Given the description of an element on the screen output the (x, y) to click on. 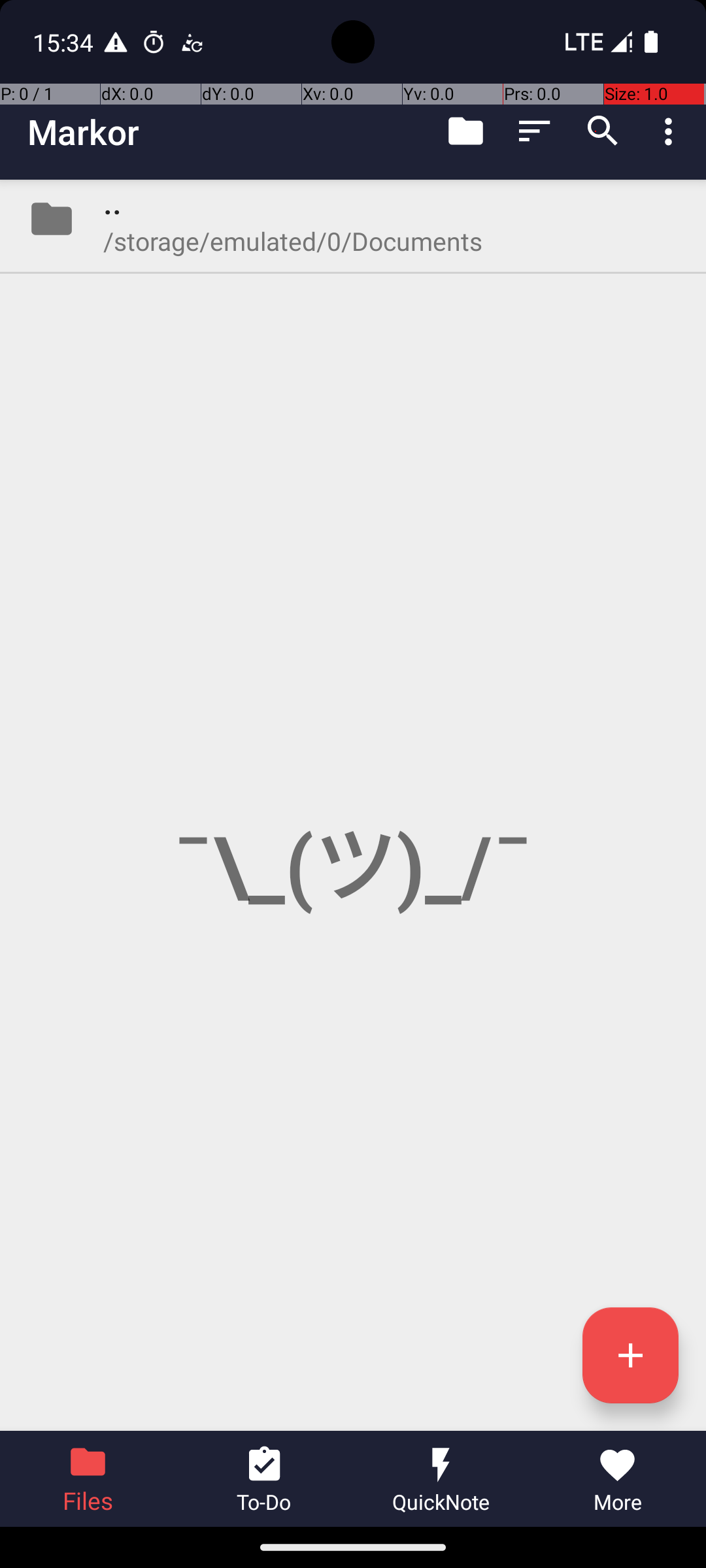
¯\_(ツ)_/¯ Element type: android.widget.TextView (353, 804)
VLC notification: Scanning for media files Element type: android.widget.ImageView (191, 41)
